Given the description of an element on the screen output the (x, y) to click on. 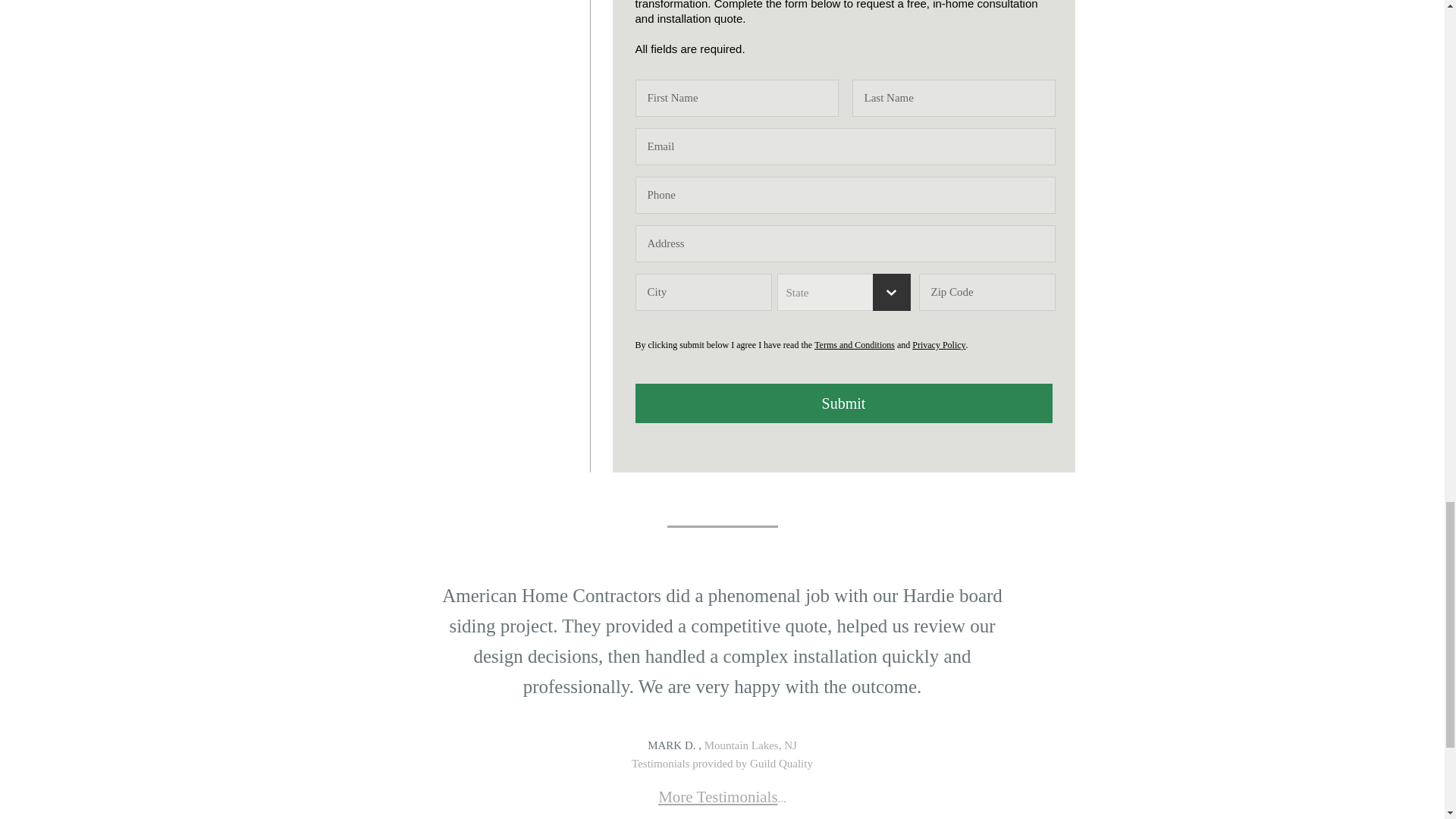
First Name (736, 98)
Phone (844, 194)
Email (844, 146)
More Testimonials (717, 796)
Privacy Policy (938, 344)
Address (844, 243)
Zip Code (986, 292)
City (702, 292)
Submit (843, 403)
Last Name (953, 98)
Terms and Conditions (854, 344)
